Given the description of an element on the screen output the (x, y) to click on. 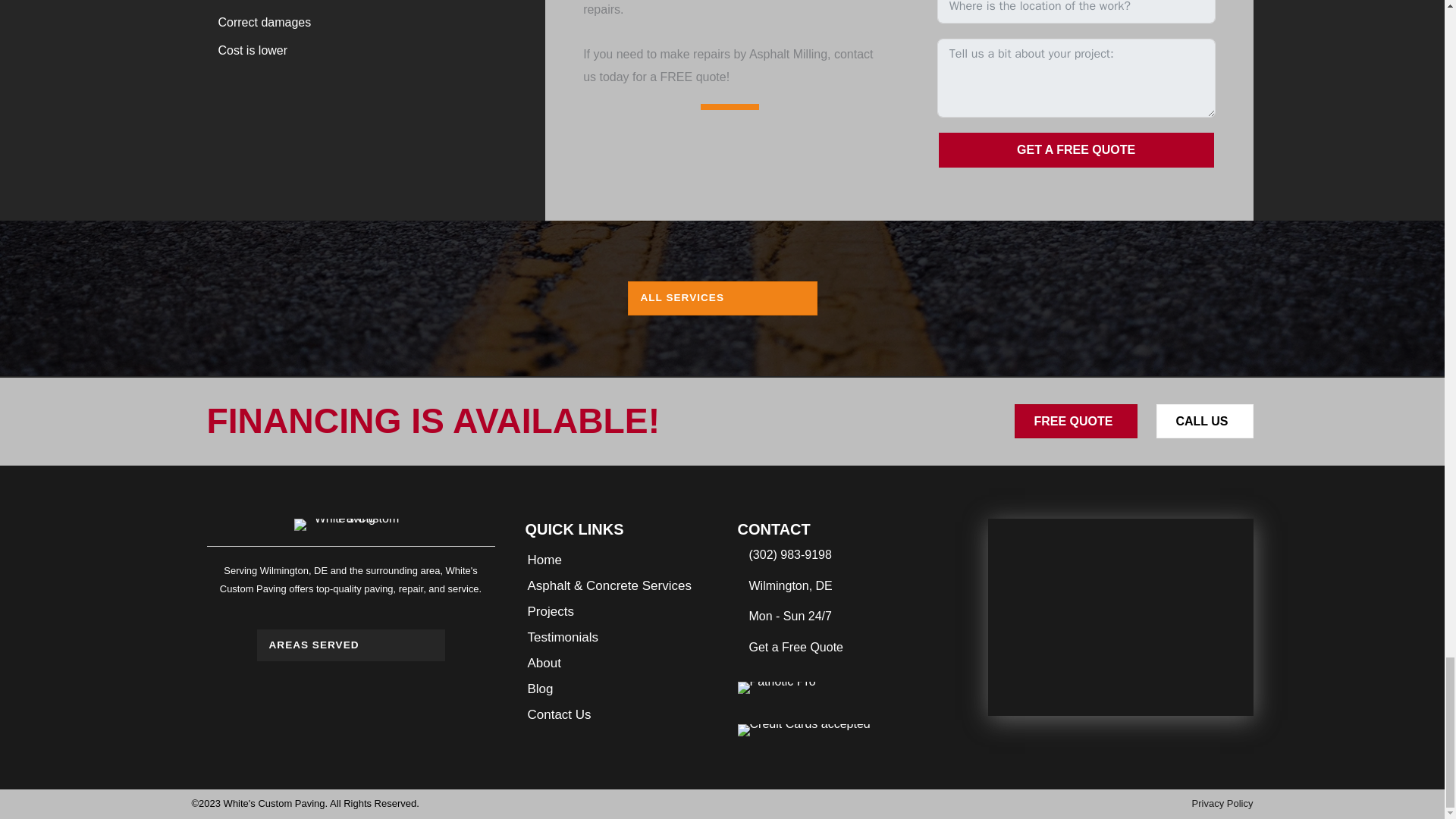
cc (802, 729)
logo-whites (350, 524)
